Given the description of an element on the screen output the (x, y) to click on. 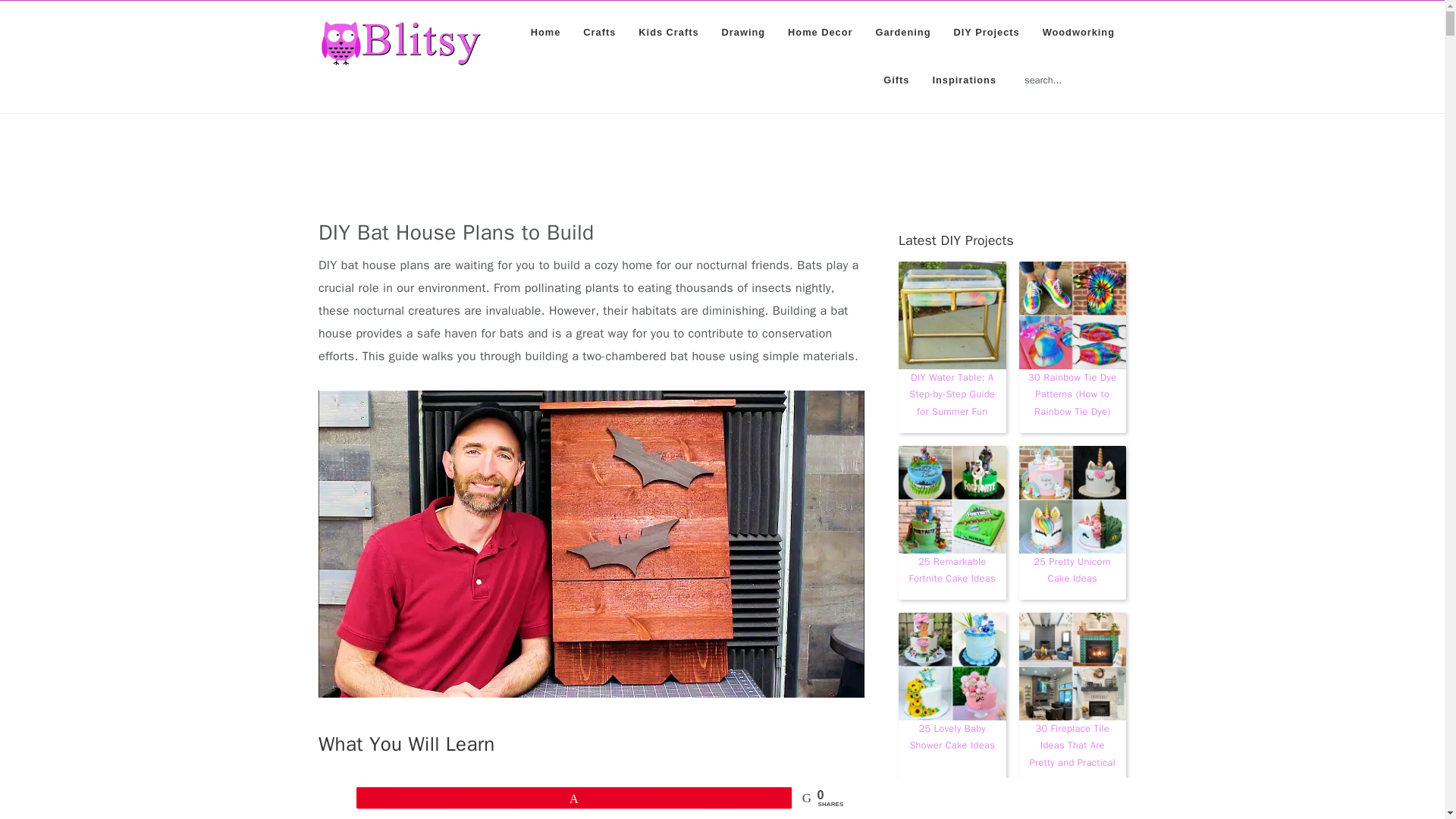
Drawing (743, 32)
Kids Crafts (668, 32)
Blitsy (399, 43)
Home Decor (819, 32)
Search (1128, 71)
Crafts (599, 32)
Home (545, 32)
DIY Projects (986, 32)
Inspirations (963, 80)
